Given the description of an element on the screen output the (x, y) to click on. 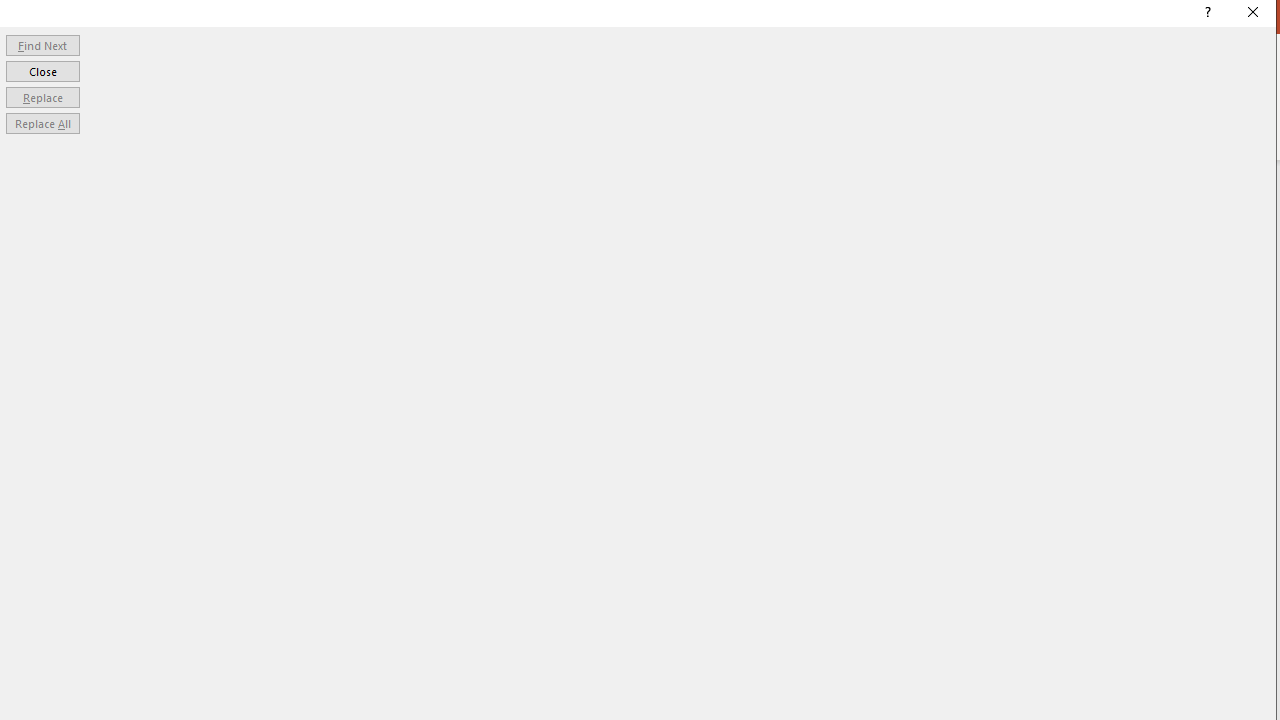
Context help (1206, 14)
Replace (42, 96)
Find Next (42, 44)
Replace All (42, 123)
